Given the description of an element on the screen output the (x, y) to click on. 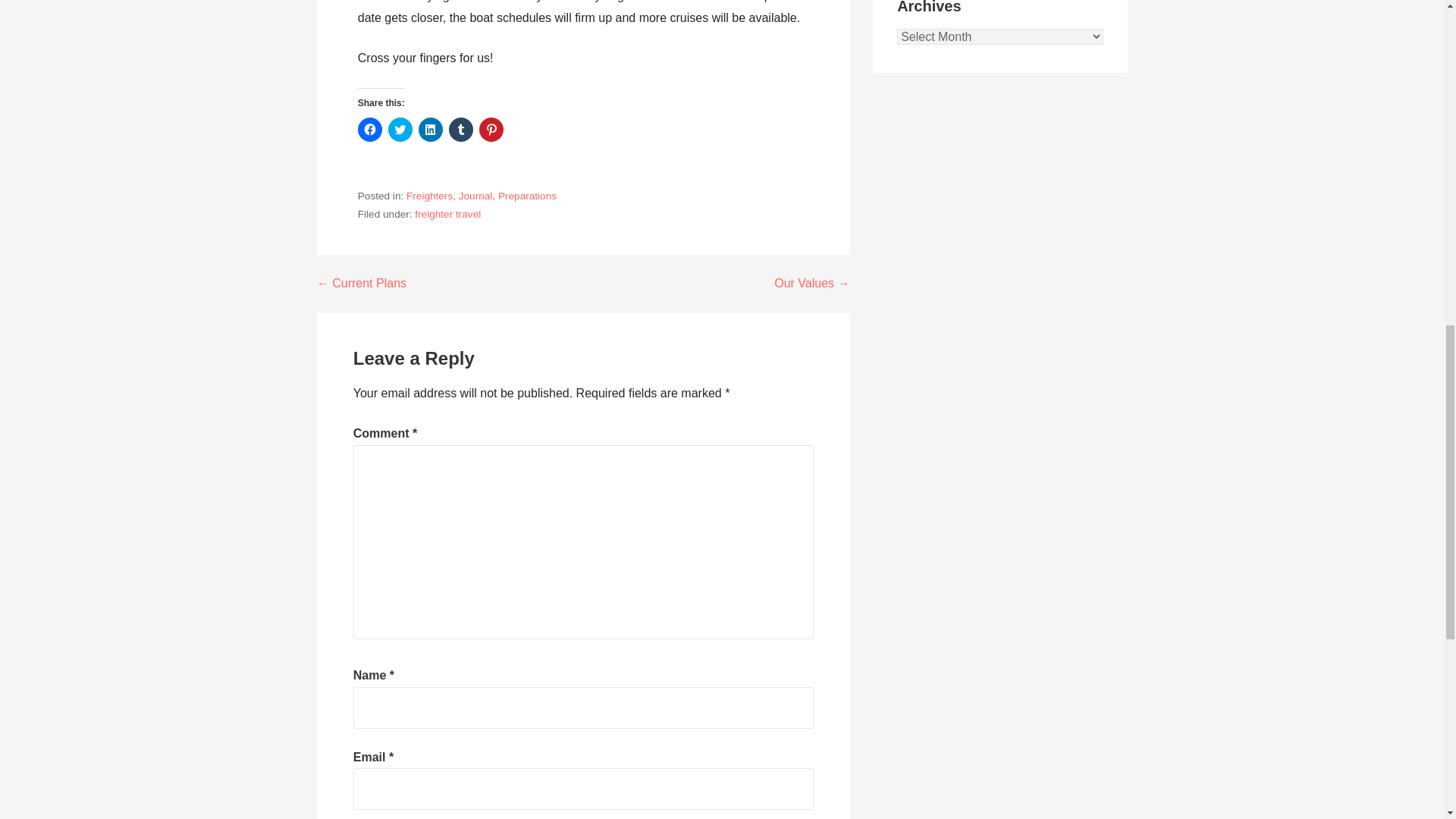
Freighters (429, 195)
Preparations (526, 195)
Click to share on Tumblr (460, 129)
Journal (475, 195)
Click to share on LinkedIn (430, 129)
freighter travel (447, 214)
Click to share on Twitter (400, 129)
Click to share on Facebook (369, 129)
Click to share on Pinterest (491, 129)
